Given the description of an element on the screen output the (x, y) to click on. 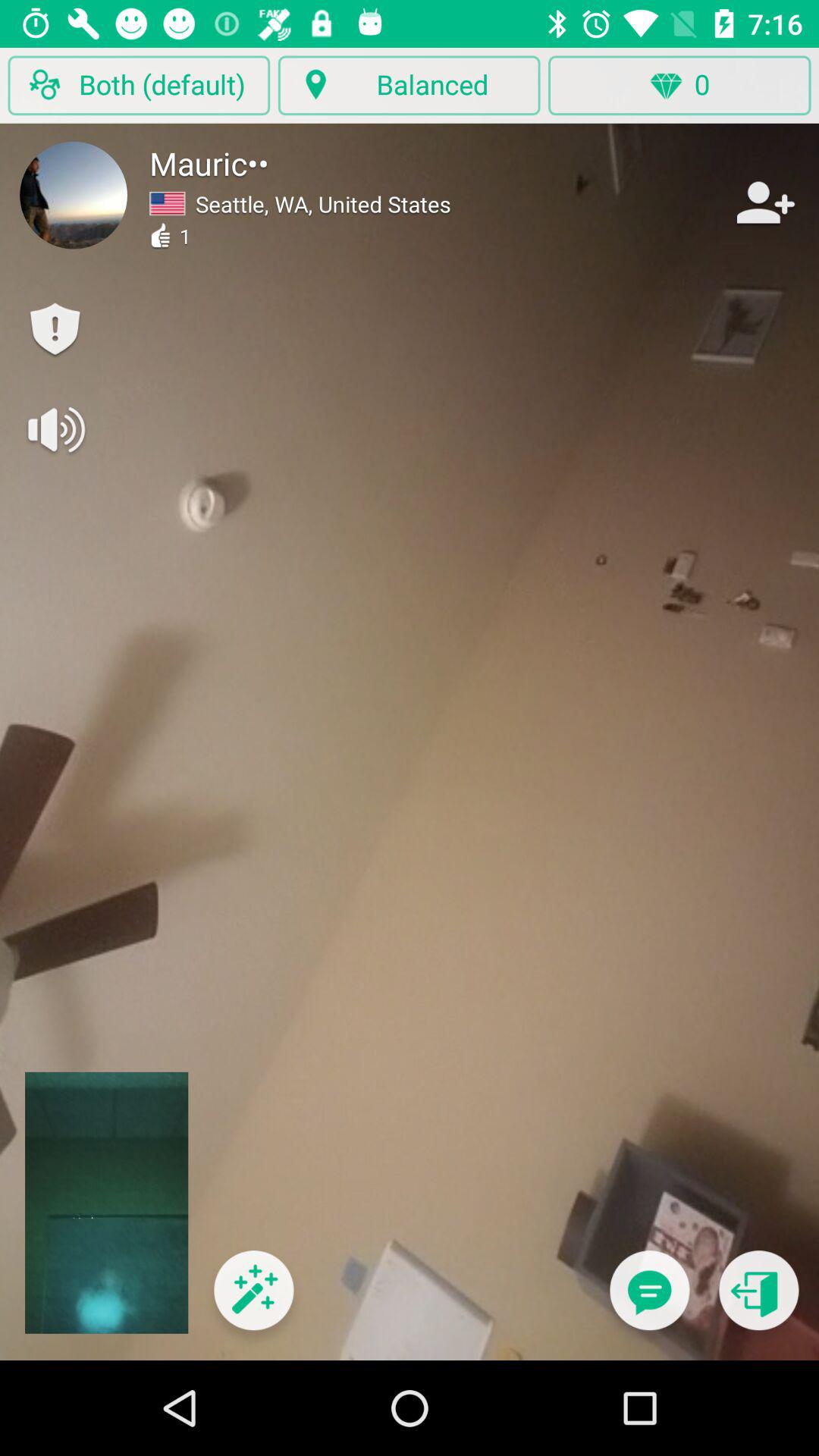
add person (763, 202)
